Given the description of an element on the screen output the (x, y) to click on. 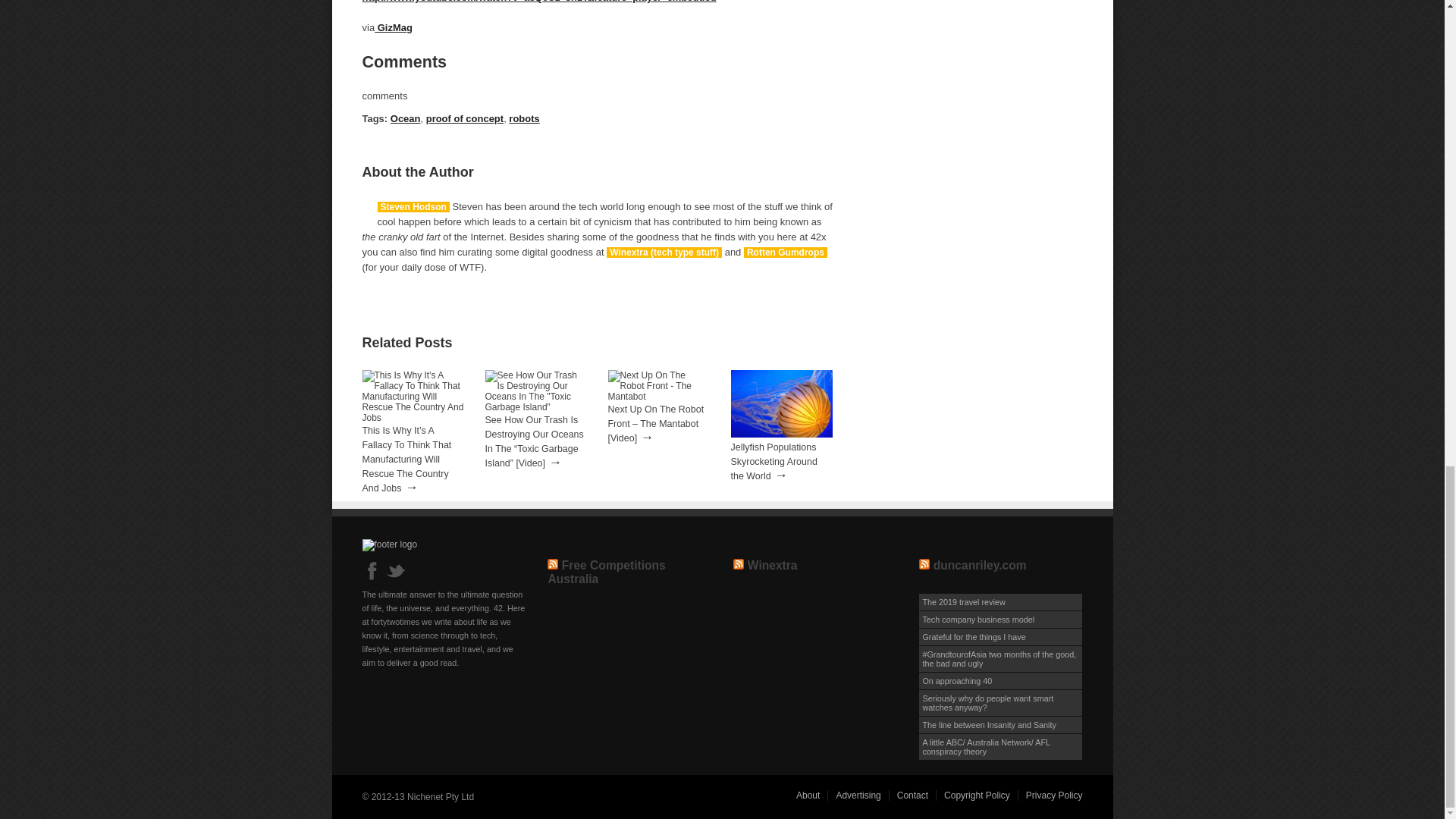
Free Competitions Australia (606, 571)
Steven Hodson (413, 206)
GizMag (393, 27)
Posts by Steven Hodson (413, 206)
Rotten Gumdrops (785, 252)
Winextra (772, 564)
robots (523, 118)
Jellyfish Populations Skyrocketing Around the World (781, 434)
proof of concept (464, 118)
Jellyfish Populations Skyrocketing Around the World (773, 461)
Jellyfish Populations Skyrocketing Around the World (773, 461)
Ocean (405, 118)
